Given the description of an element on the screen output the (x, y) to click on. 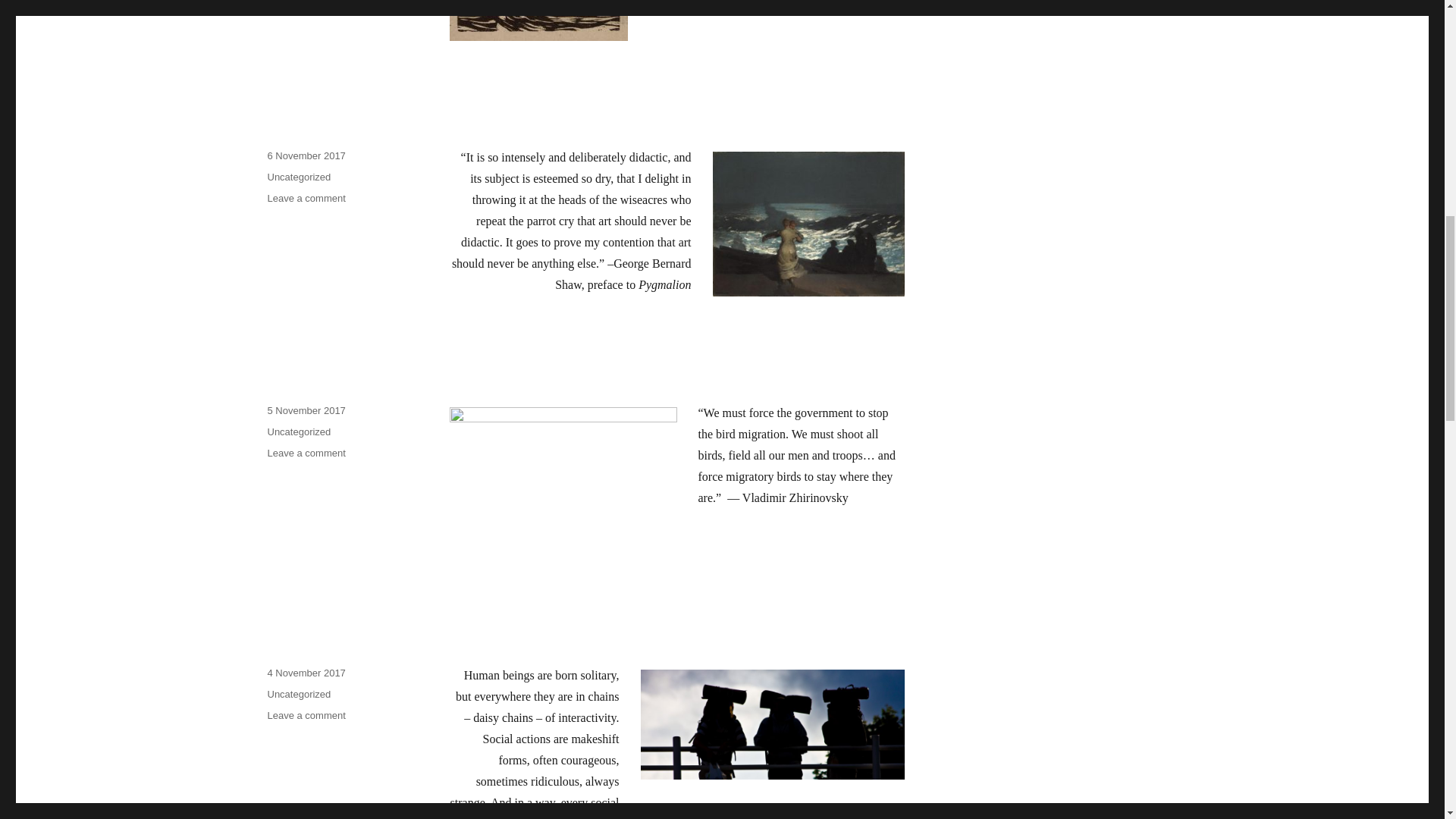
Uncategorized (305, 715)
6 November 2017 (298, 694)
4 November 2017 (305, 155)
5 November 2017 (305, 672)
Uncategorized (305, 410)
Uncategorized (298, 176)
